Given the description of an element on the screen output the (x, y) to click on. 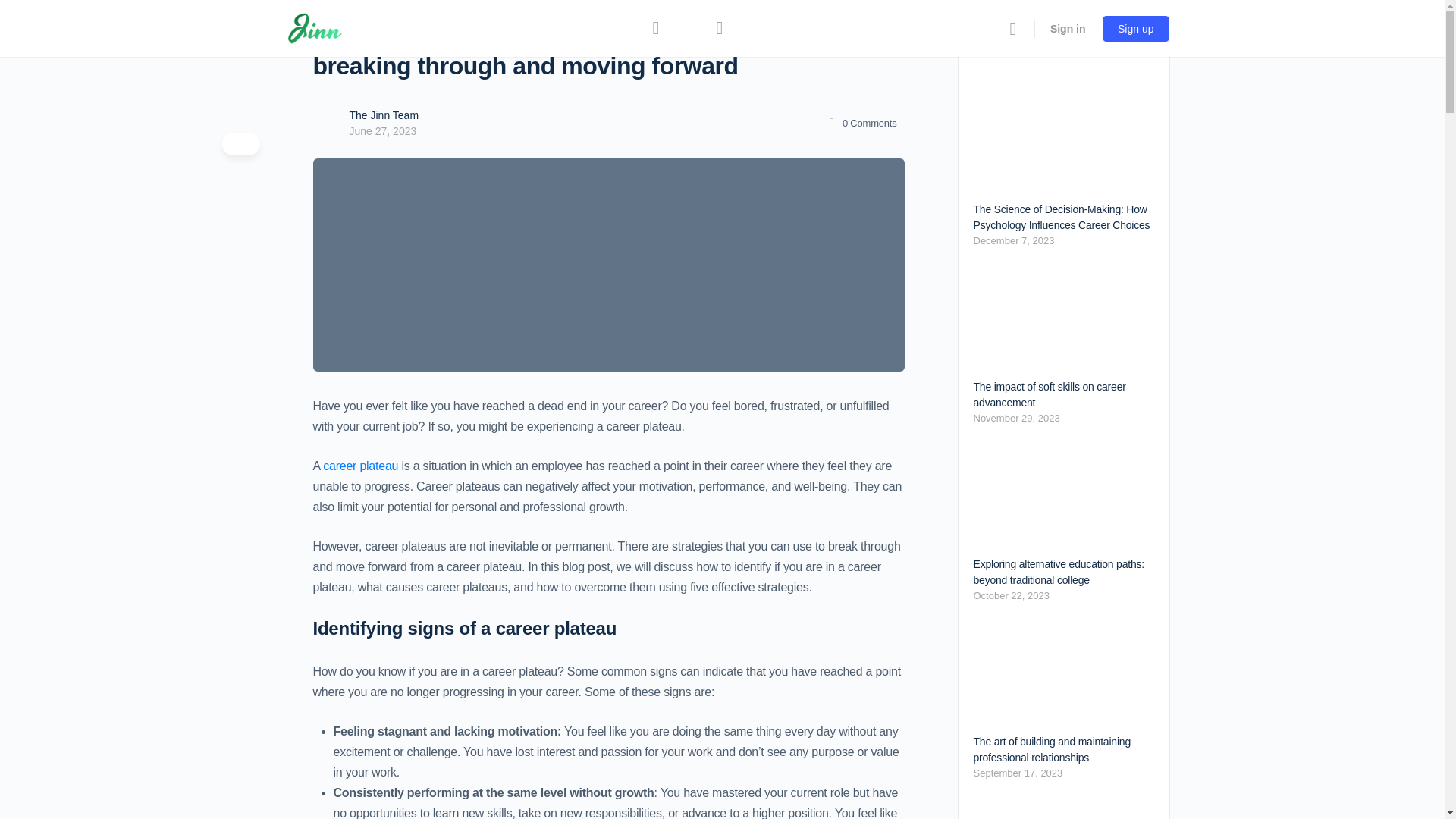
The Jinn Team (384, 114)
June 27, 2023 (382, 131)
Sign up (1135, 28)
0 Comments (860, 122)
Sign in (1067, 27)
